Given the description of an element on the screen output the (x, y) to click on. 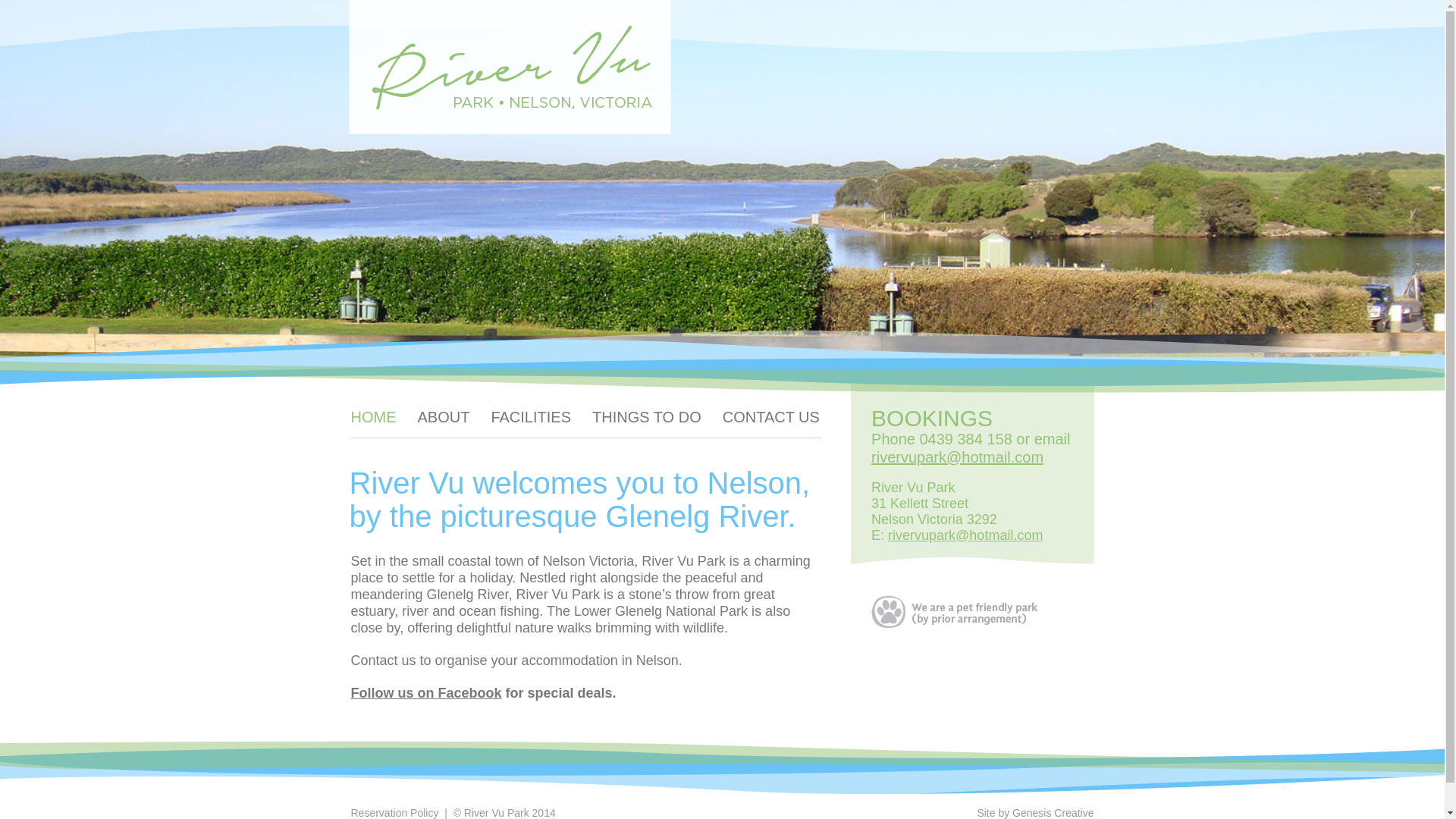
HOME (373, 416)
FACILITIES (530, 416)
0439 384 158 (964, 438)
CONTACT US (770, 416)
Reservation Policy (394, 812)
Genesis Creative (1052, 812)
ABOUT (442, 416)
THINGS TO DO (646, 416)
Follow us on Facebook (425, 693)
River Vu Park (510, 67)
